Given the description of an element on the screen output the (x, y) to click on. 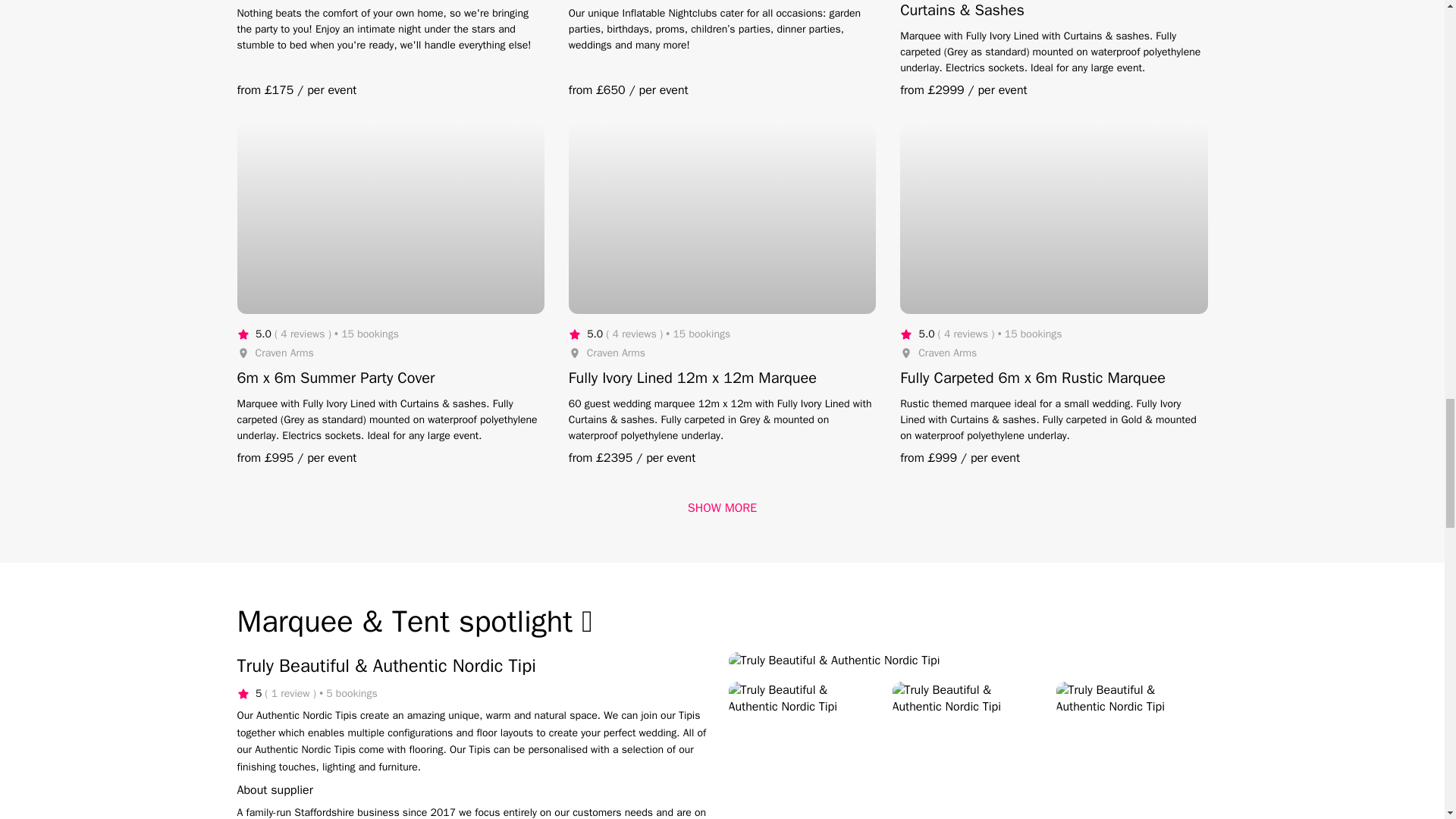
SHOW MORE (721, 507)
